Given the description of an element on the screen output the (x, y) to click on. 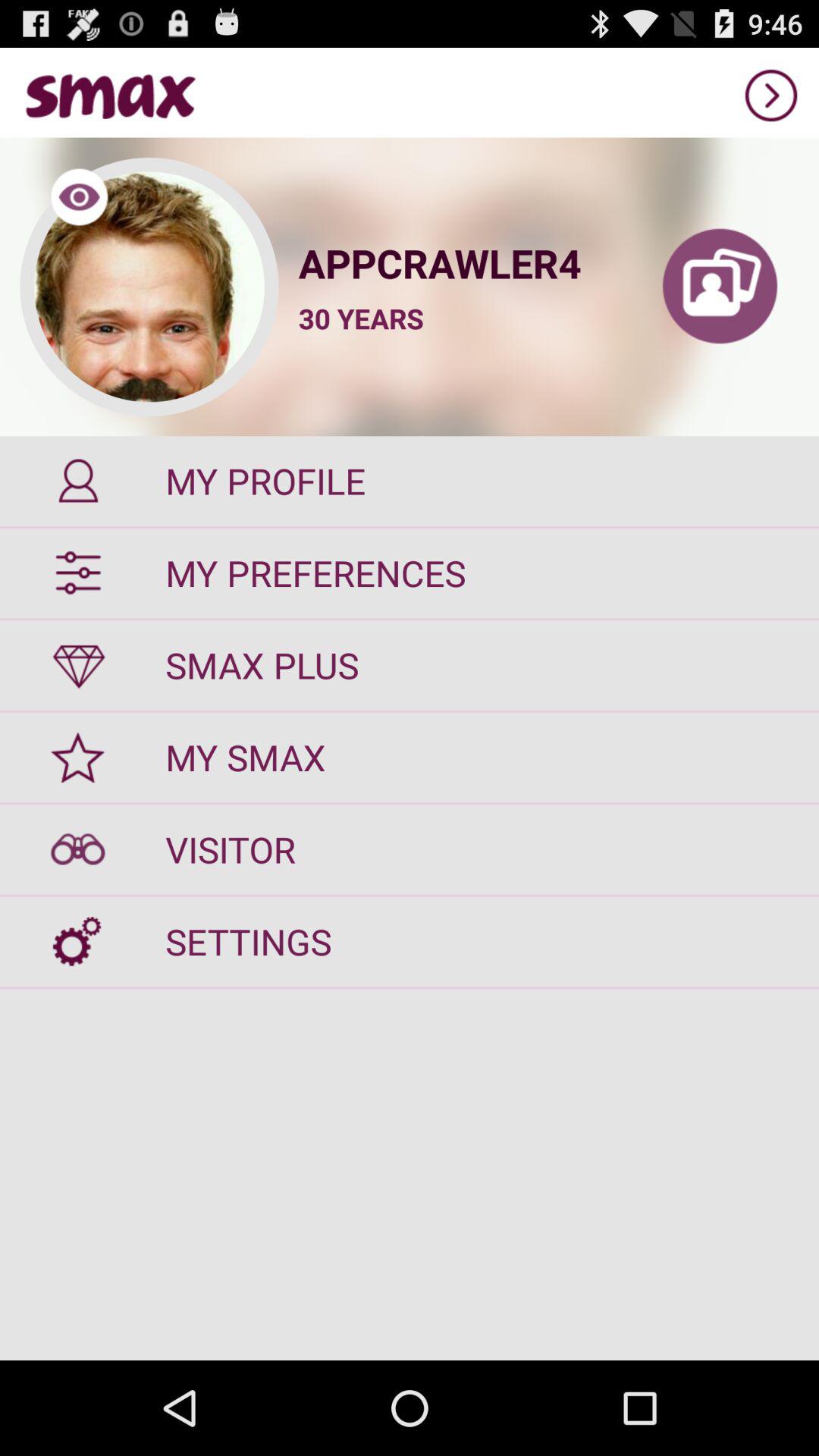
flip to the my profile icon (409, 481)
